Given the description of an element on the screen output the (x, y) to click on. 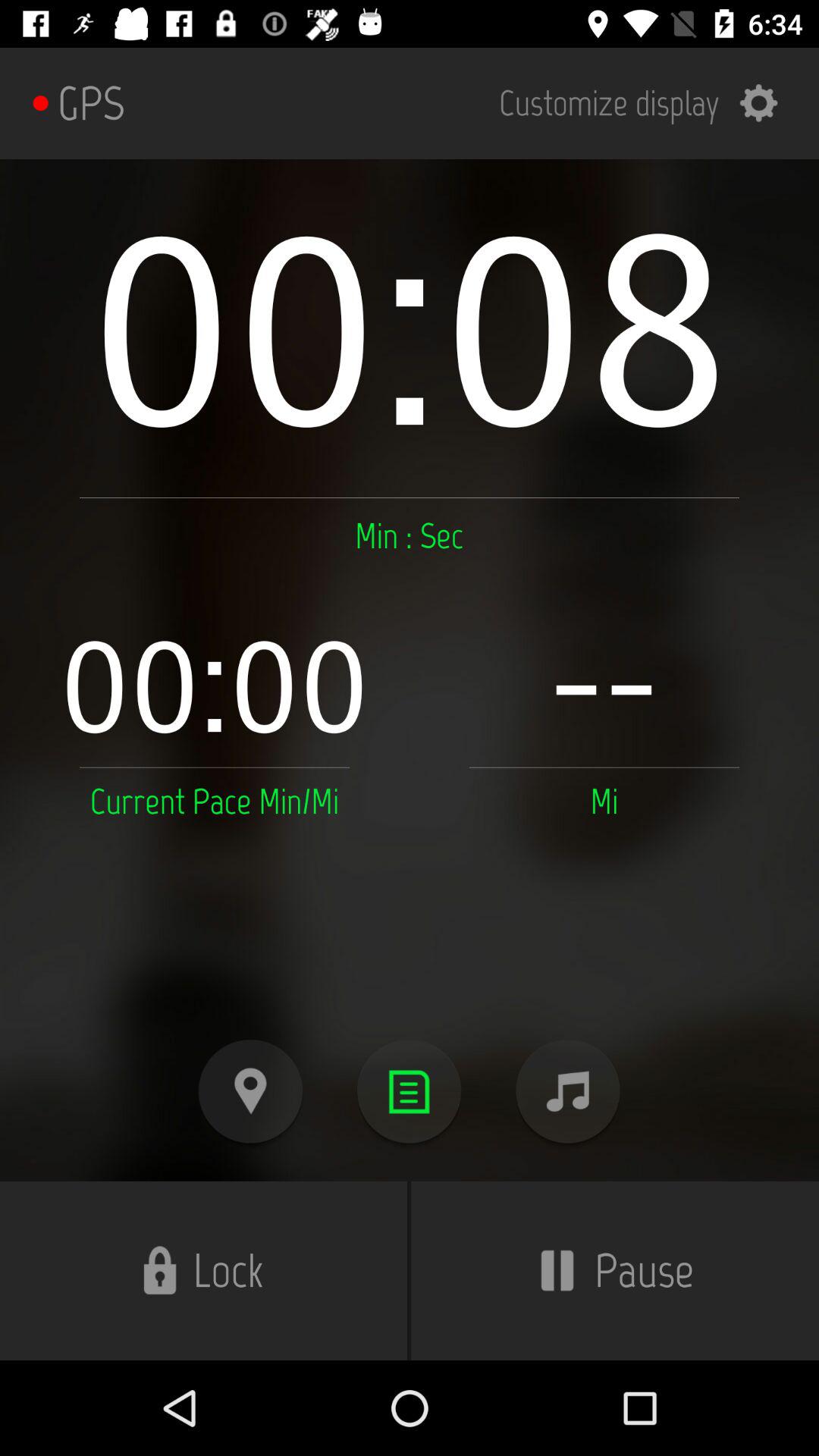
toggle map (250, 1091)
